Given the description of an element on the screen output the (x, y) to click on. 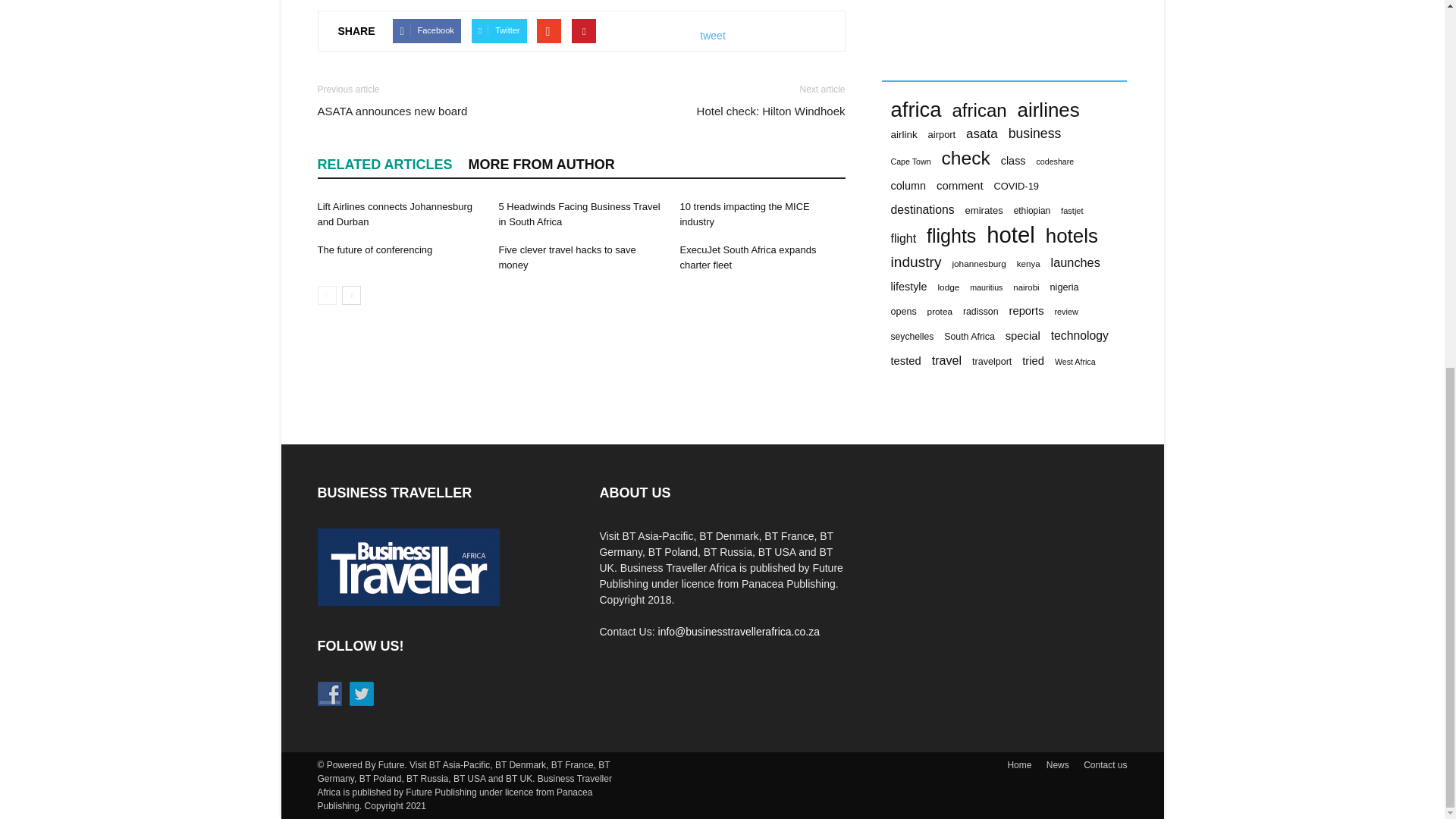
Five clever travel hacks to save money (565, 257)
Follow Us: Facebook (328, 693)
10 trends impacting the MICE industry (744, 213)
Lift Airlines connects Johannesburg and Durban (394, 213)
The future of conferencing (374, 249)
5 Headwinds Facing Business Travel in South Africa (578, 213)
ExecuJet South Africa expands charter fleet (747, 257)
